Given the description of an element on the screen output the (x, y) to click on. 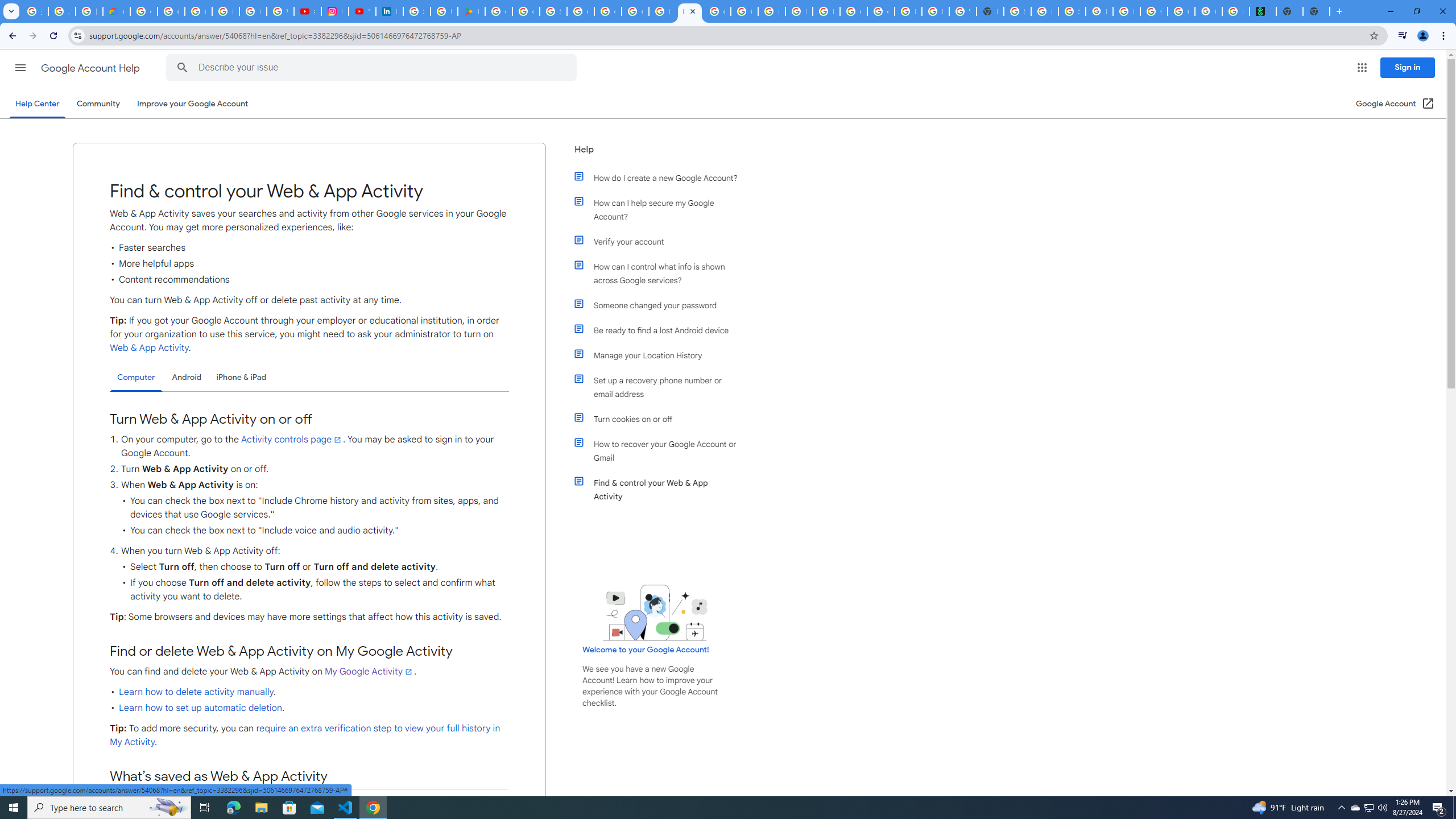
Learn how to delete activity manually (196, 691)
Last Shelter: Survival - Apps on Google Play (471, 11)
How can I help secure my Google Account? (661, 209)
 Activity controls page (290, 439)
Privacy Help Center - Policies Help (253, 11)
